Given the description of an element on the screen output the (x, y) to click on. 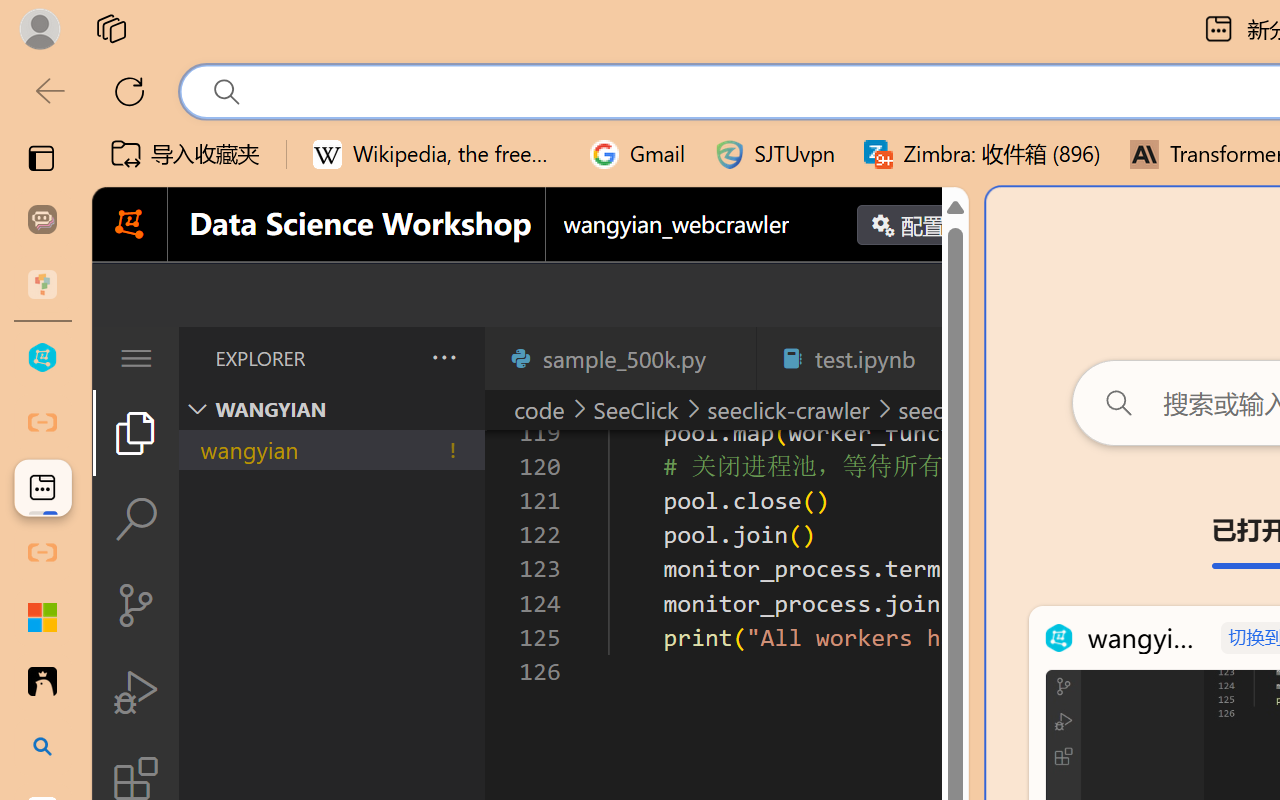
Source Control (Ctrl+Shift+G) (135, 604)
Explorer actions (391, 358)
Class: menubar compact overflow-menu-only (135, 358)
Wikipedia, the free encyclopedia (437, 154)
Run and Debug (Ctrl+Shift+D) (135, 692)
wangyian_dsw - DSW (42, 357)
Adjust indents and spacing - Microsoft Support (42, 617)
Explorer Section: wangyian (331, 409)
